Given the description of an element on the screen output the (x, y) to click on. 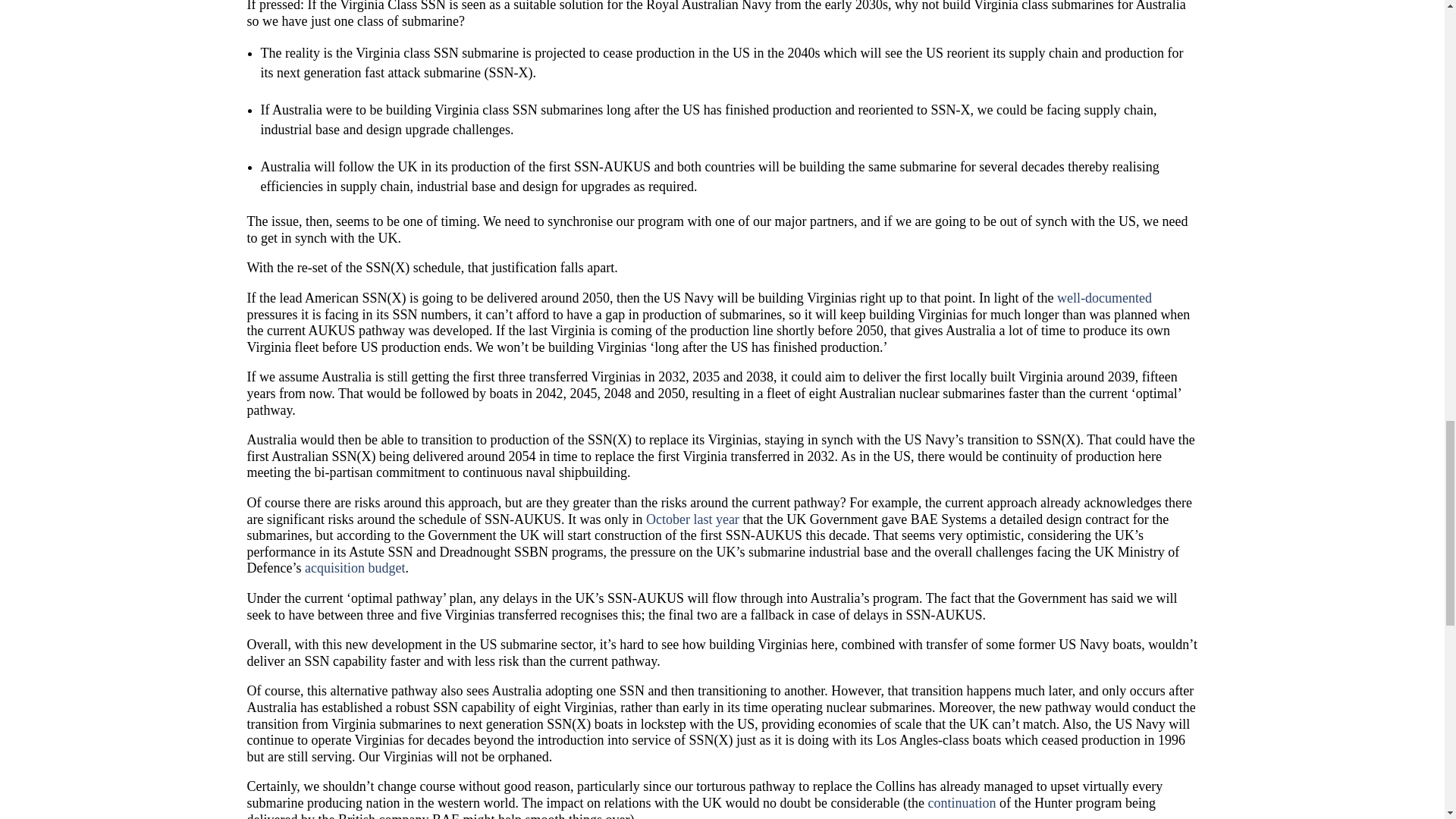
well-documented (1104, 297)
acquisition budget (354, 567)
October last year (692, 519)
continuation (961, 802)
